Given the description of an element on the screen output the (x, y) to click on. 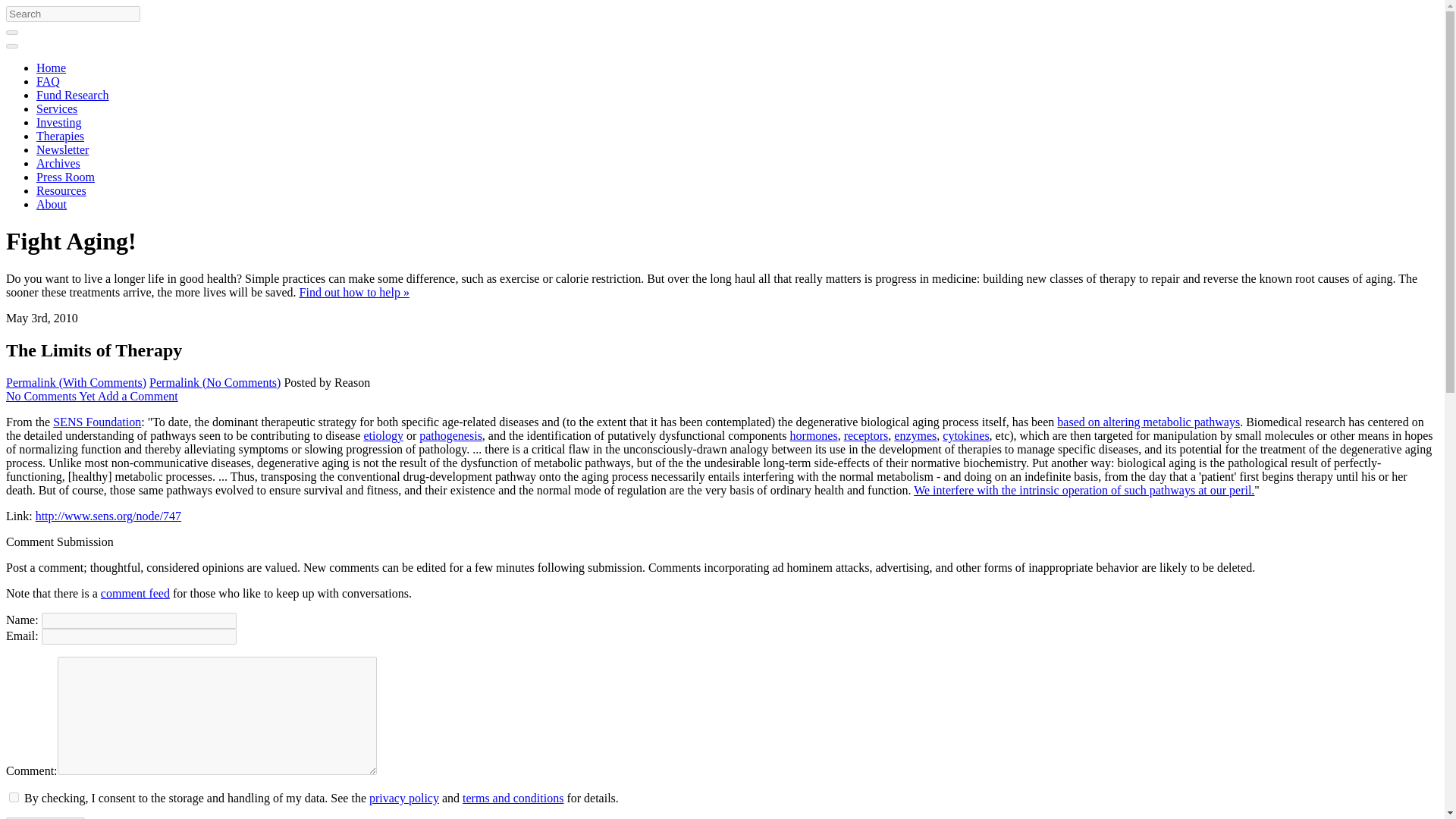
Home (50, 67)
1 (13, 797)
Add a Comment (137, 395)
FAQ (47, 81)
SENS Foundation (96, 421)
Resources (60, 190)
pathogenesis (450, 435)
Investing (58, 122)
Therapies (60, 135)
Post Comment (44, 818)
Newsletter (62, 149)
comment feed (135, 593)
About (51, 204)
privacy policy (404, 797)
terms and conditions (513, 797)
